Given the description of an element on the screen output the (x, y) to click on. 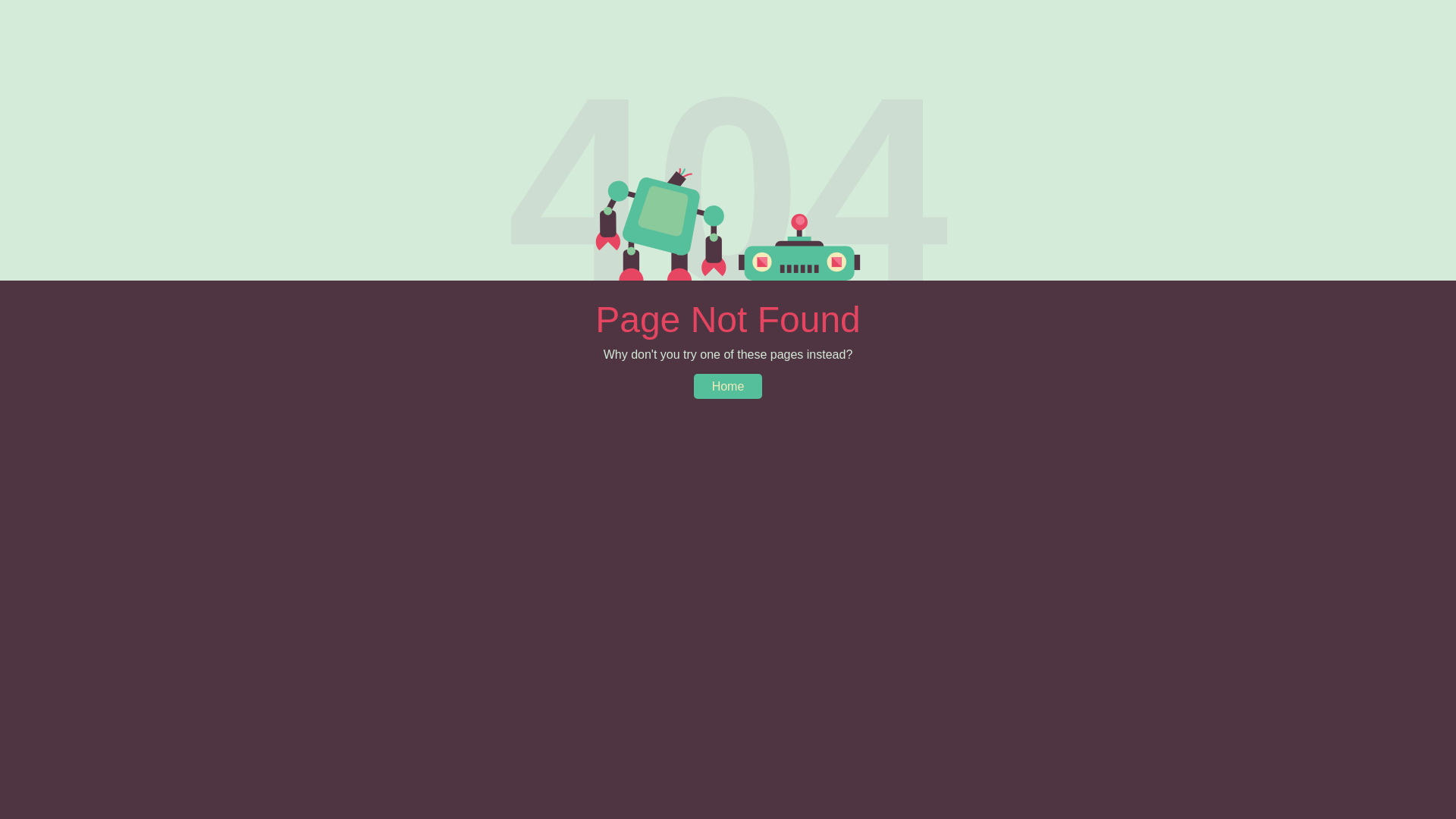
Home Element type: text (727, 385)
